Given the description of an element on the screen output the (x, y) to click on. 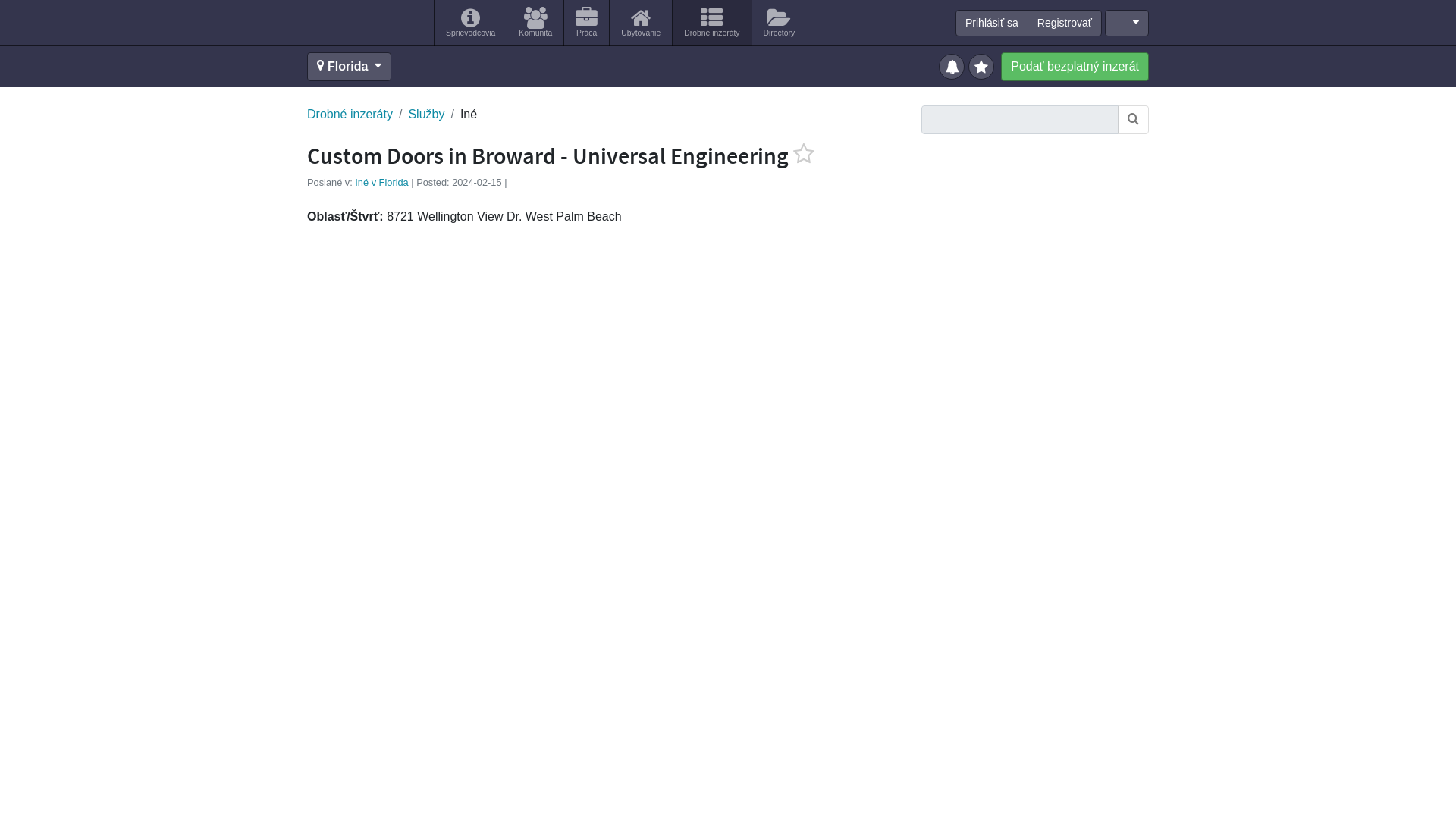
Just Landed (364, 22)
Sprievodcovia (469, 22)
Komunita (534, 22)
Ubytovanie (640, 22)
Just Landed (364, 22)
Directory v Florida (779, 22)
Komunita v Florida (534, 22)
Directory (779, 22)
Ubytovanie v Florida (640, 22)
Florida (349, 66)
